Given the description of an element on the screen output the (x, y) to click on. 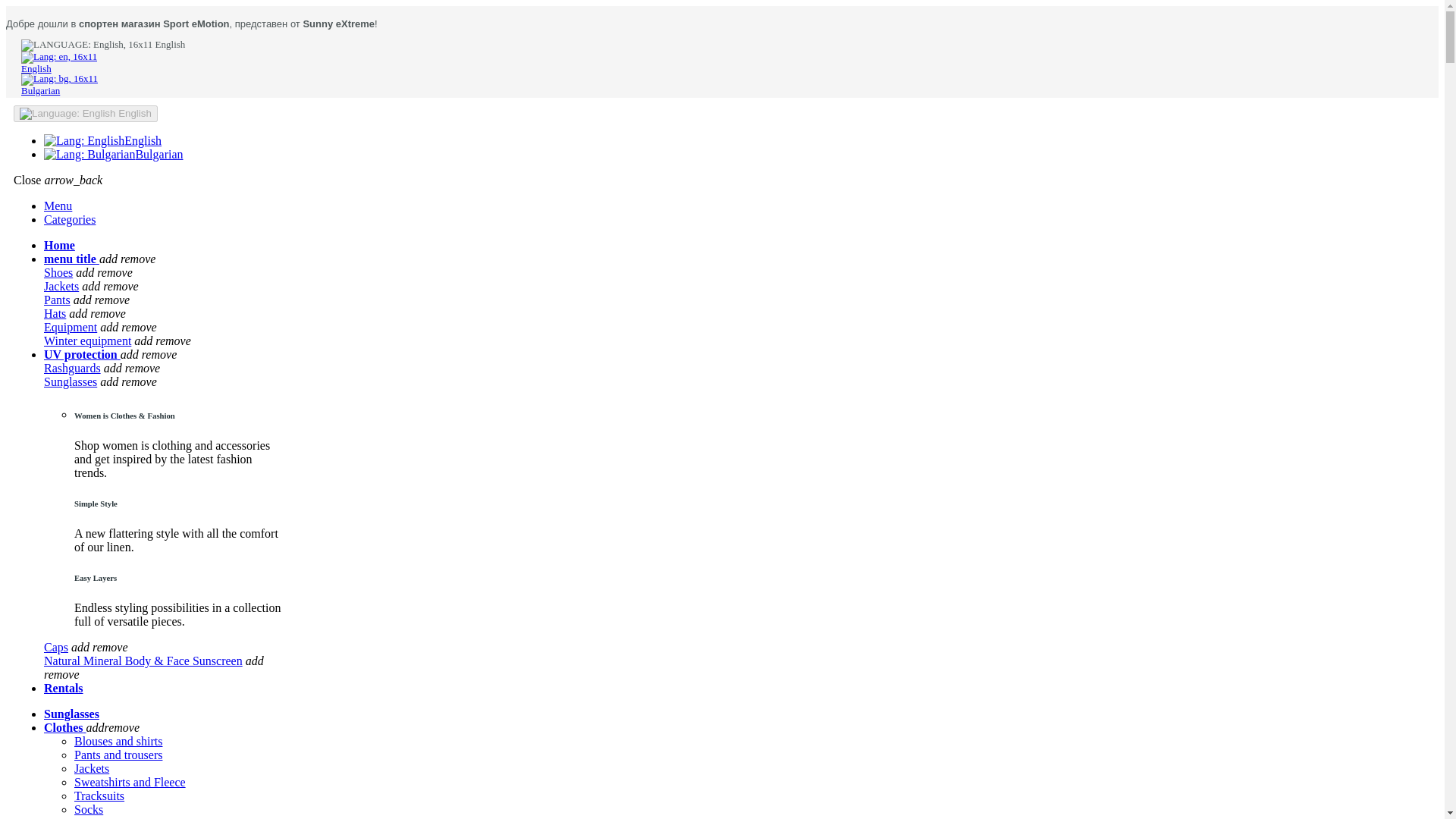
Rentals (62, 687)
Caps (86, 817)
English (59, 62)
Socks (88, 809)
Categories (69, 219)
Sunglasses (71, 713)
Bulgarian (113, 154)
English (85, 113)
UV protection (81, 354)
Sunglasses (70, 381)
